Given the description of an element on the screen output the (x, y) to click on. 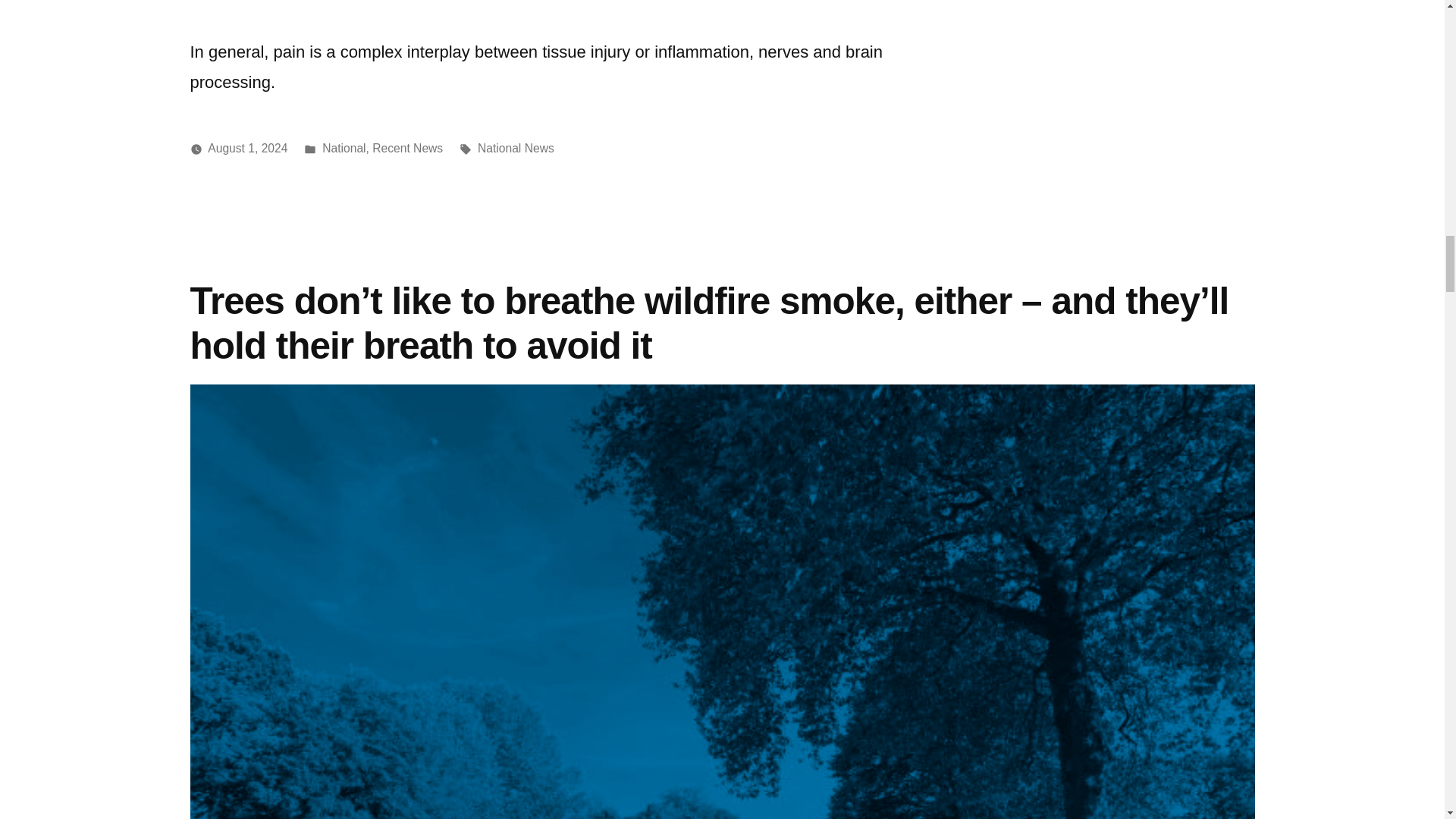
August 1, 2024 (247, 147)
National (343, 147)
Recent News (407, 147)
National News (515, 147)
